Given the description of an element on the screen output the (x, y) to click on. 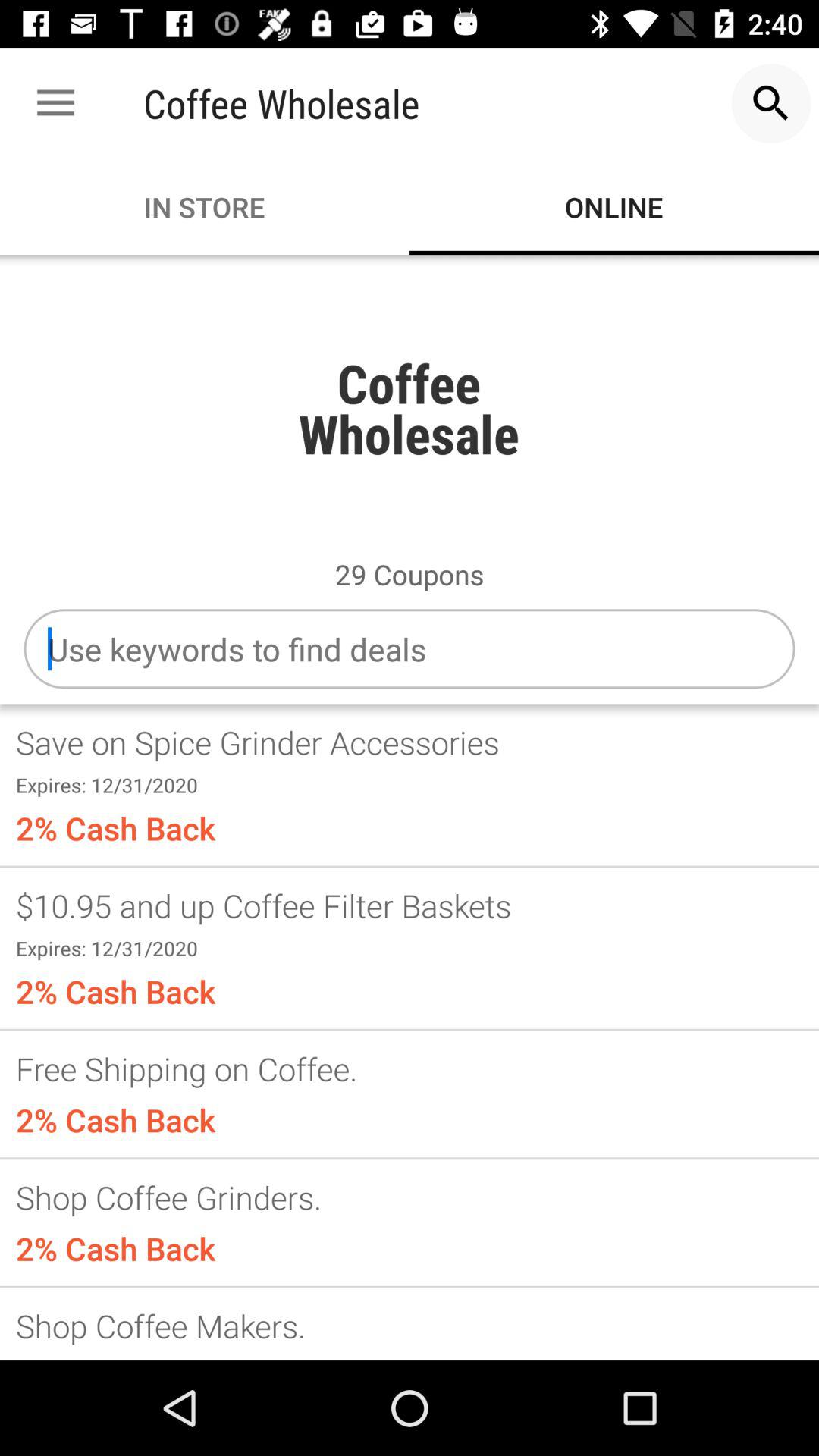
turn on the icon below the 29 coupons (409, 648)
